Given the description of an element on the screen output the (x, y) to click on. 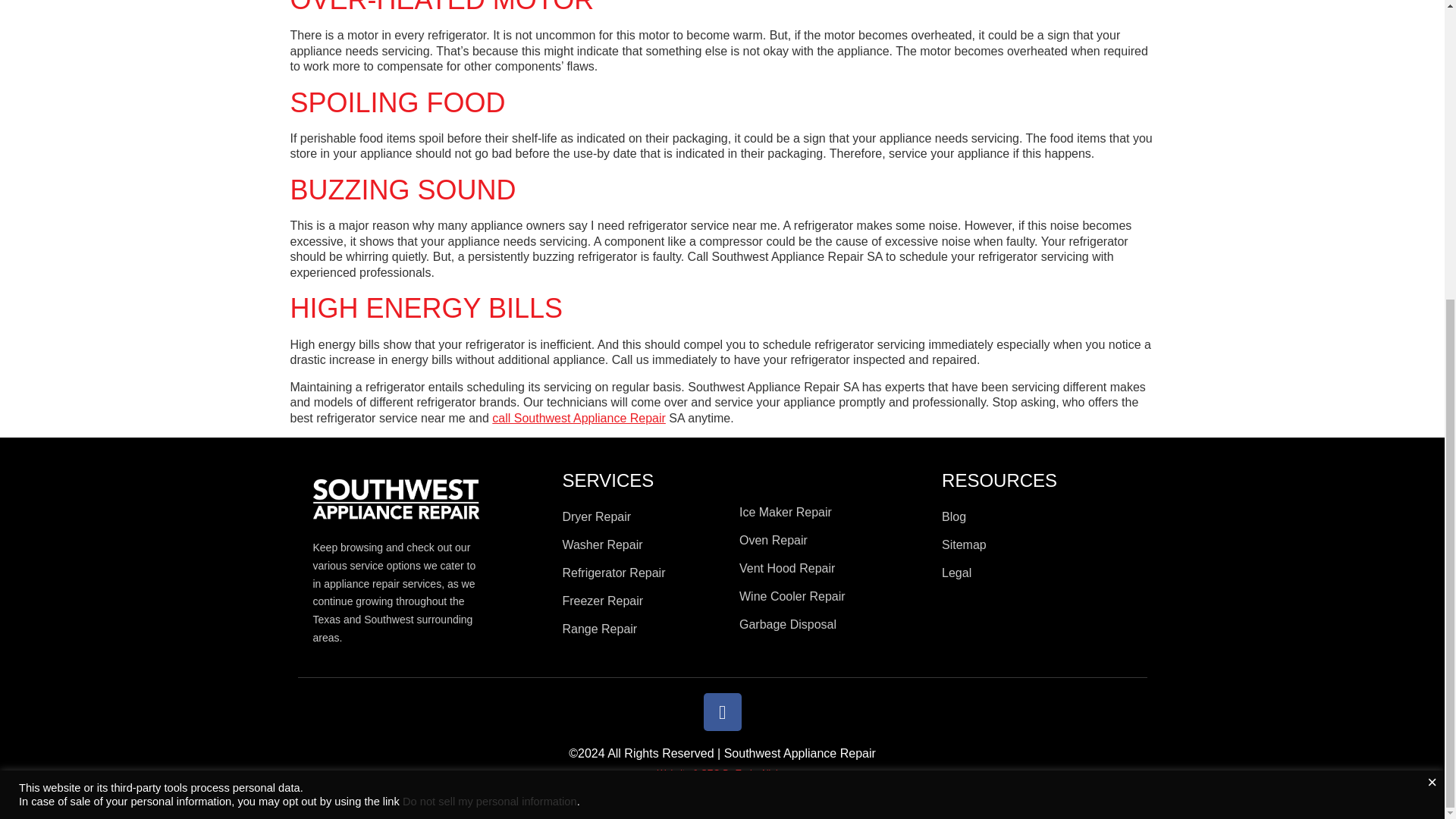
Oven Repair (832, 540)
Wine Cooler Repair (832, 596)
Ice Maker Repair (832, 512)
Washer Repair (642, 545)
Refrigerator Repair (642, 573)
call Southwest Appliance Repair (578, 418)
Vent Hood Repair (832, 568)
Range Repair (642, 629)
Dryer Repair (642, 517)
Freezer Repair (642, 600)
